Given the description of an element on the screen output the (x, y) to click on. 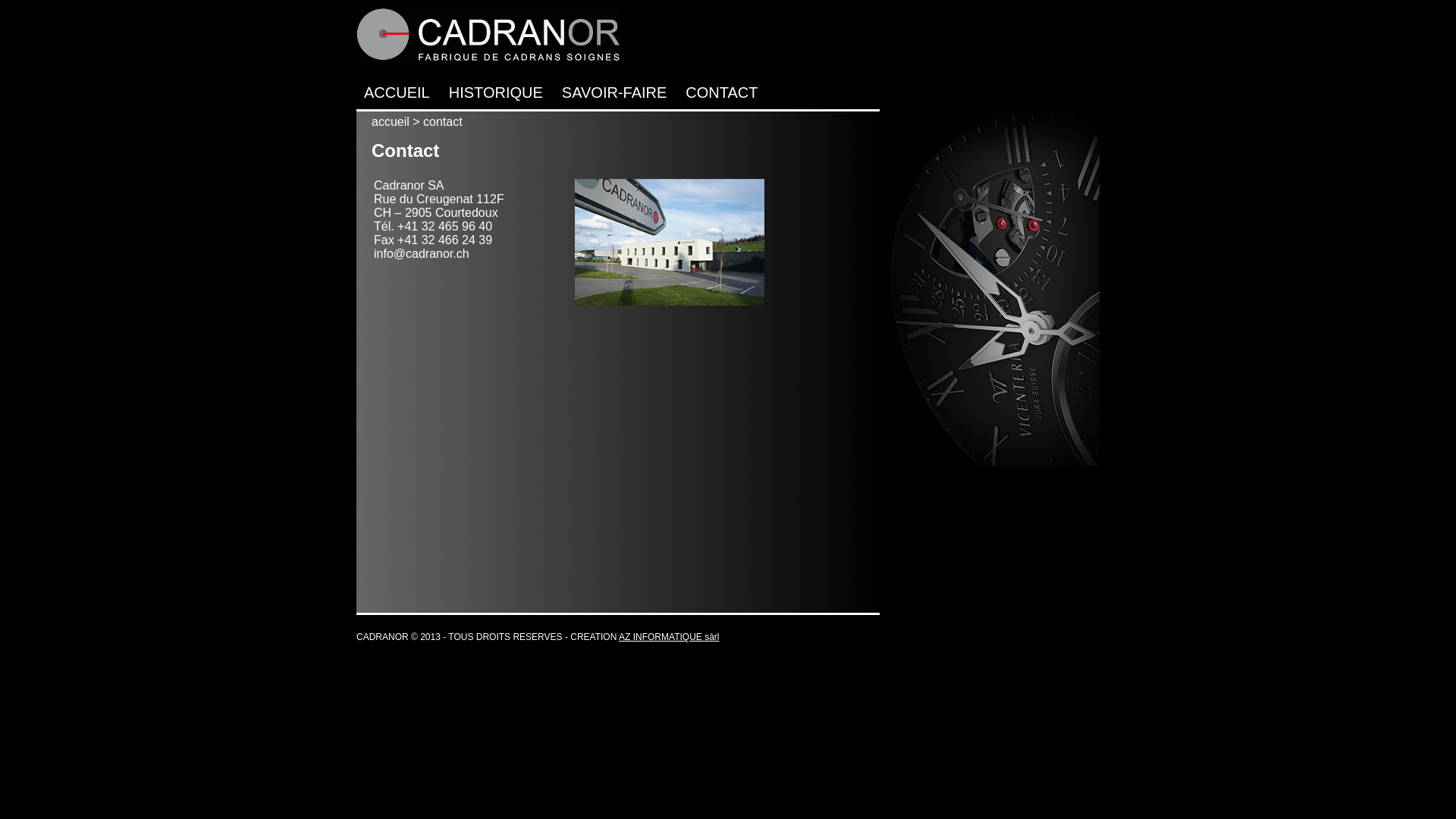
HISTORIQUE Element type: text (495, 92)
SAVOIR-FAIRE Element type: text (614, 92)
ACCUEIL Element type: text (396, 92)
CONTACT Element type: text (721, 92)
accueil Element type: text (390, 121)
info@cadranor.ch Element type: text (421, 253)
